Given the description of an element on the screen output the (x, y) to click on. 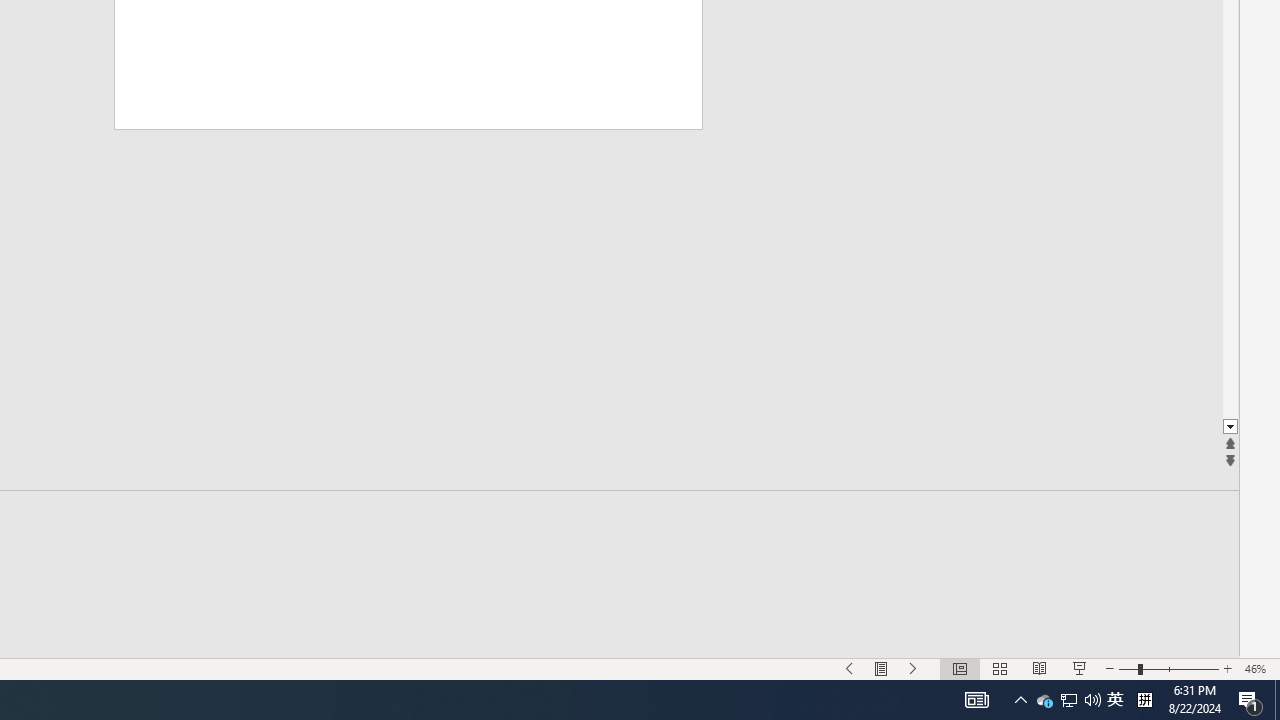
Slide Show Previous On (850, 668)
Slide Show Next On (914, 668)
Zoom 46% (1258, 668)
Menu On (882, 668)
